Given the description of an element on the screen output the (x, y) to click on. 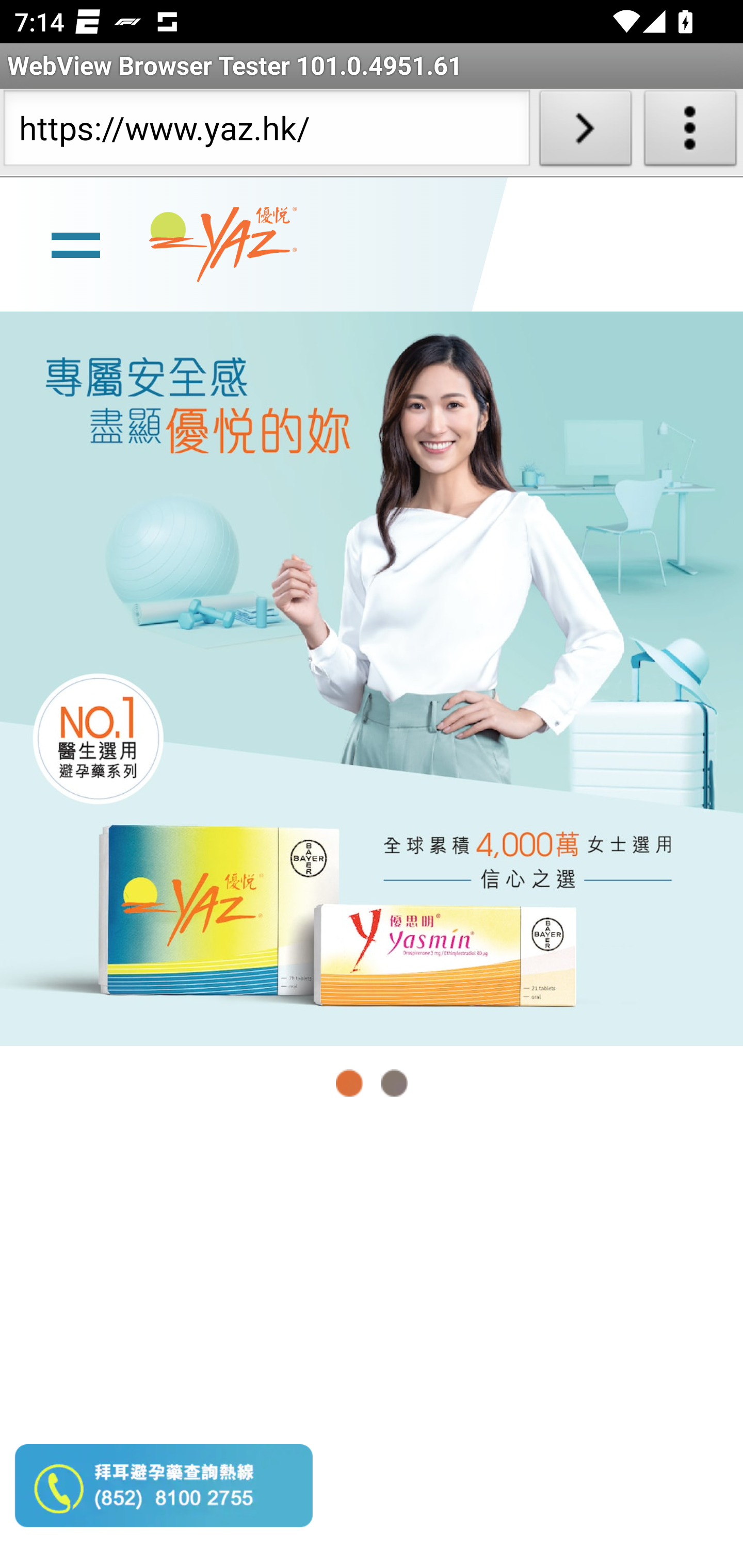
https://www.yaz.hk/ (266, 132)
Load URL (585, 132)
About WebView (690, 132)
www.yaz (222, 244)
line Toggle burger menu (75, 242)
slide 1 Alt tag Alt tag (371, 677)
slide 1 Alt tag Alt tag (371, 677)
1 of 2 (349, 1083)
2 of 2 (393, 1083)
Video Player (371, 1345)
